Given the description of an element on the screen output the (x, y) to click on. 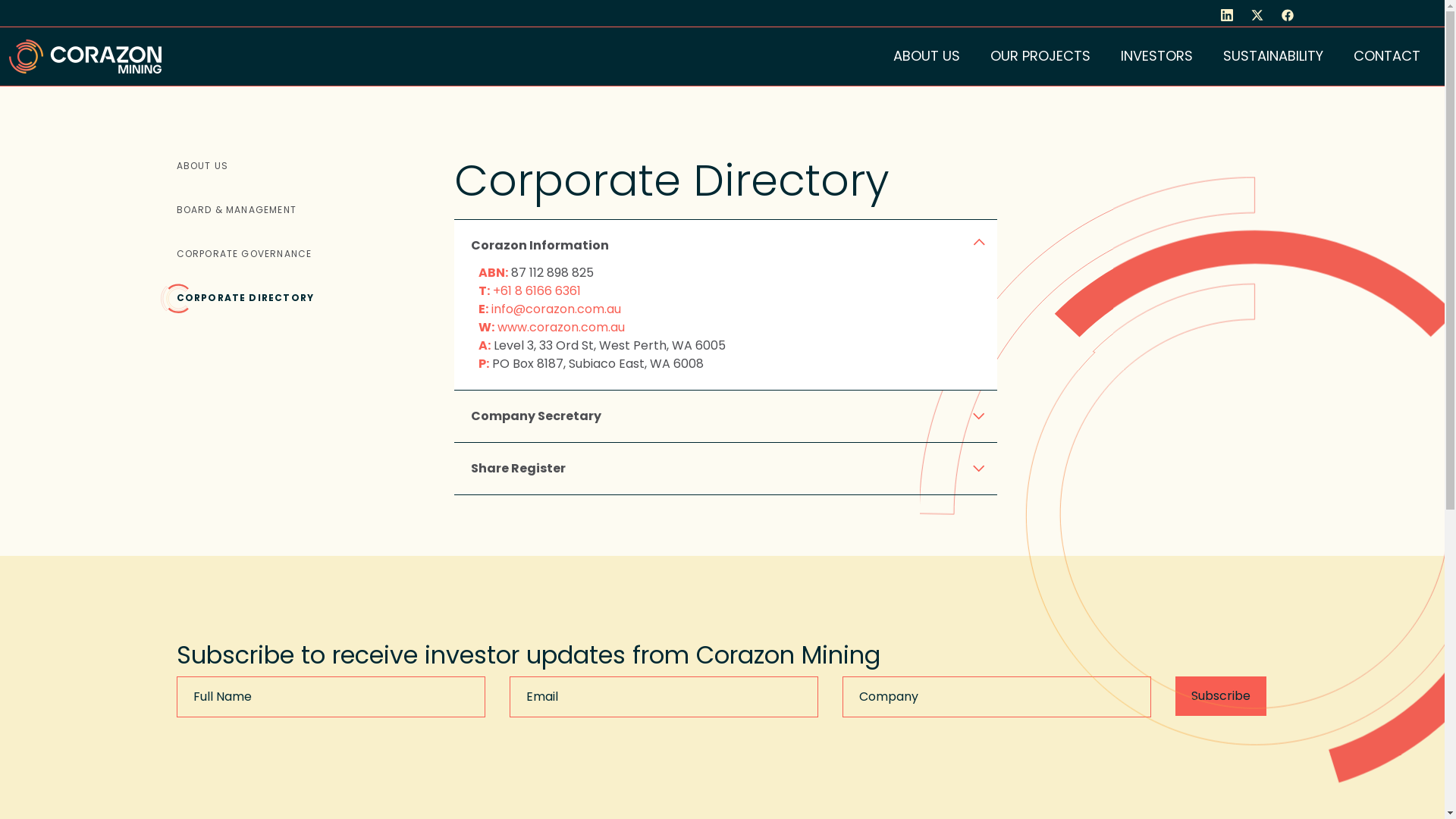
+ Element type: text (496, 290)
www.corazon.com.au Element type: text (560, 326)
CORPORATE GOVERNANCE Element type: text (243, 254)
info@corazon.com.au Element type: text (556, 308)
OUR PROJECTS Element type: text (1040, 56)
CORPORATE DIRECTORY Element type: text (244, 297)
SUSTAINABILITY Element type: text (1273, 56)
ABOUT US Element type: text (201, 166)
BOARD & MANAGEMENT Element type: text (235, 210)
INVESTORS Element type: text (1156, 56)
ABOUT US Element type: text (926, 56)
CONTACT Element type: text (1386, 56)
Subscribe Element type: text (1220, 695)
61 8 6166 6361 Element type: text (540, 290)
